Given the description of an element on the screen output the (x, y) to click on. 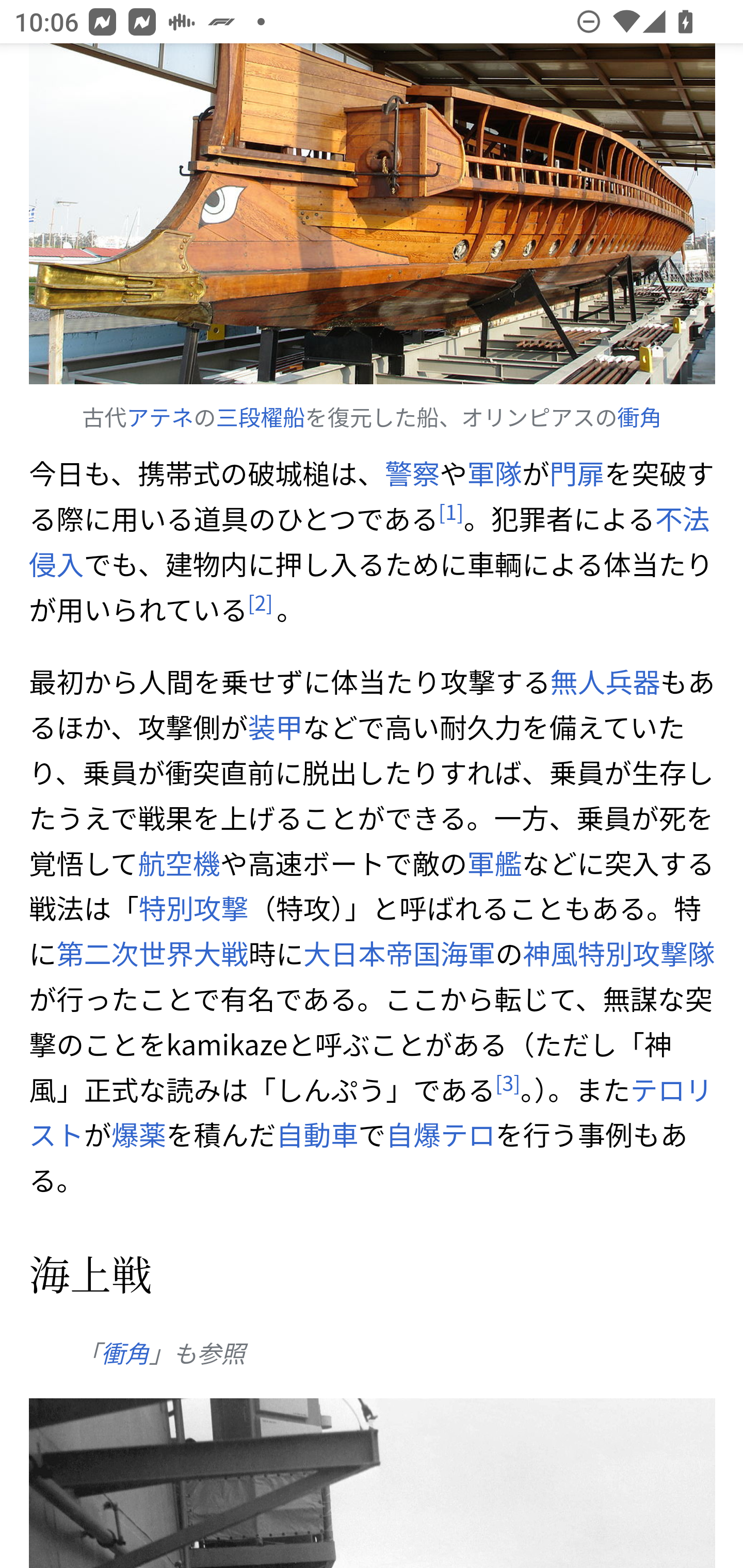
960px-Olympias.1 (372, 214)
アテネ (160, 417)
三段櫂船 (260, 417)
衝角 (638, 417)
警察 (411, 473)
軍隊 (494, 473)
門扉 (576, 473)
不法侵入 (369, 539)
[] [ 1 ] (449, 510)
[] [ 2 ] (259, 601)
無人兵器 (605, 681)
装甲 (275, 726)
航空機 (179, 862)
軍艦 (494, 862)
特別攻撃 (192, 907)
第二次世界大戦 (151, 953)
大日本帝国海軍 (398, 953)
神風特別攻撃隊 (618, 953)
[] [ 3 ] (507, 1081)
テロリスト (370, 1112)
爆薬 (138, 1134)
自動車 (316, 1134)
自爆テロ (440, 1134)
衝角 (123, 1353)
